Given the description of an element on the screen output the (x, y) to click on. 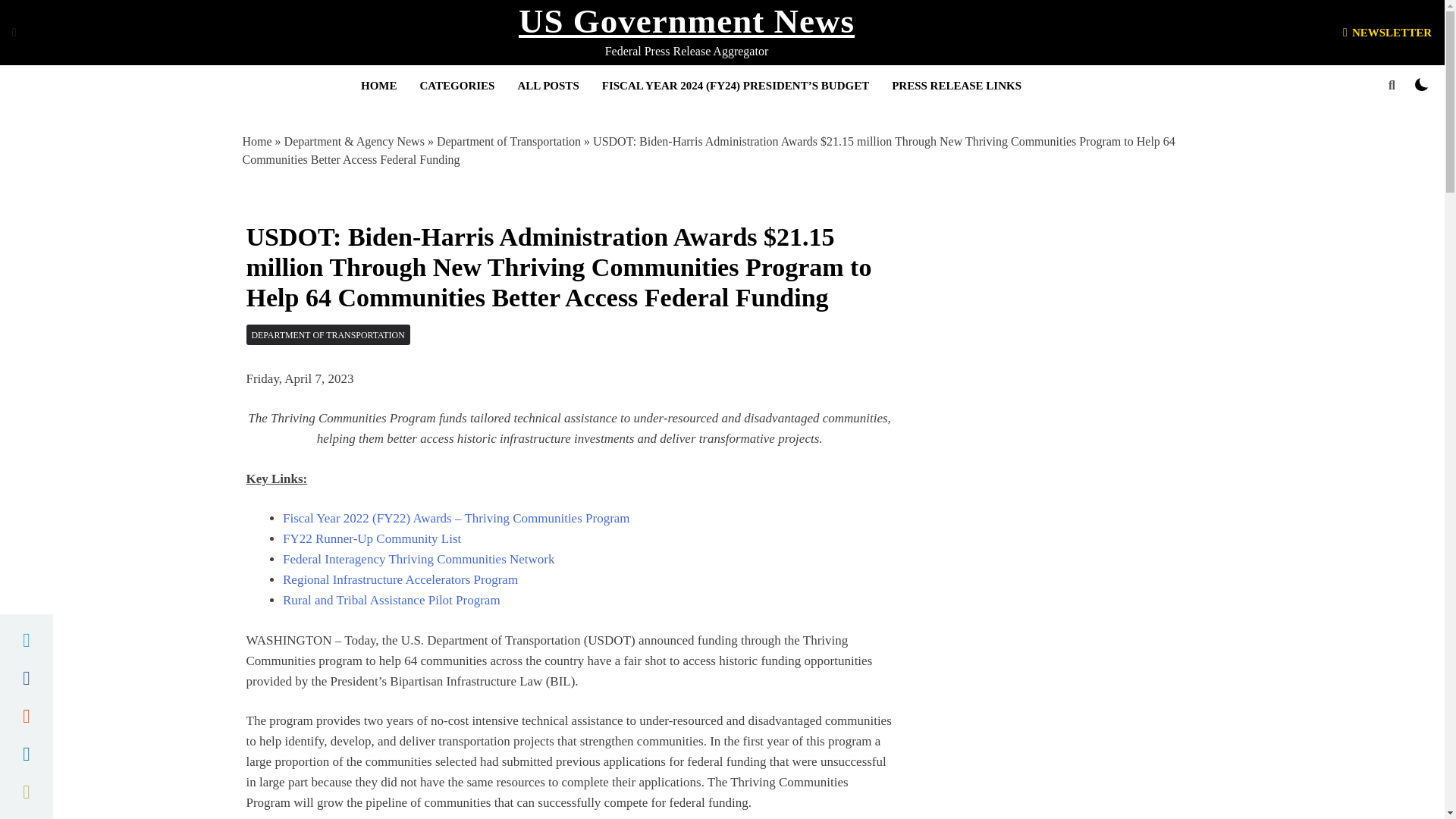
PRESS RELEASE LINKS (956, 85)
NEWSLETTER (1386, 31)
CATEGORIES (457, 85)
on (1421, 84)
Department of Transportation (508, 141)
ALL POSTS (547, 85)
DEPARTMENT OF TRANSPORTATION (327, 334)
Regional Infrastructure Accelerators Program (400, 579)
FY22 Runner-Up Community List (371, 538)
HOME (379, 85)
Home (257, 141)
Federal Interagency Thriving Communities Network (418, 559)
US Government News (686, 21)
Rural and Tribal Assistance Pilot Program (391, 599)
